Given the description of an element on the screen output the (x, y) to click on. 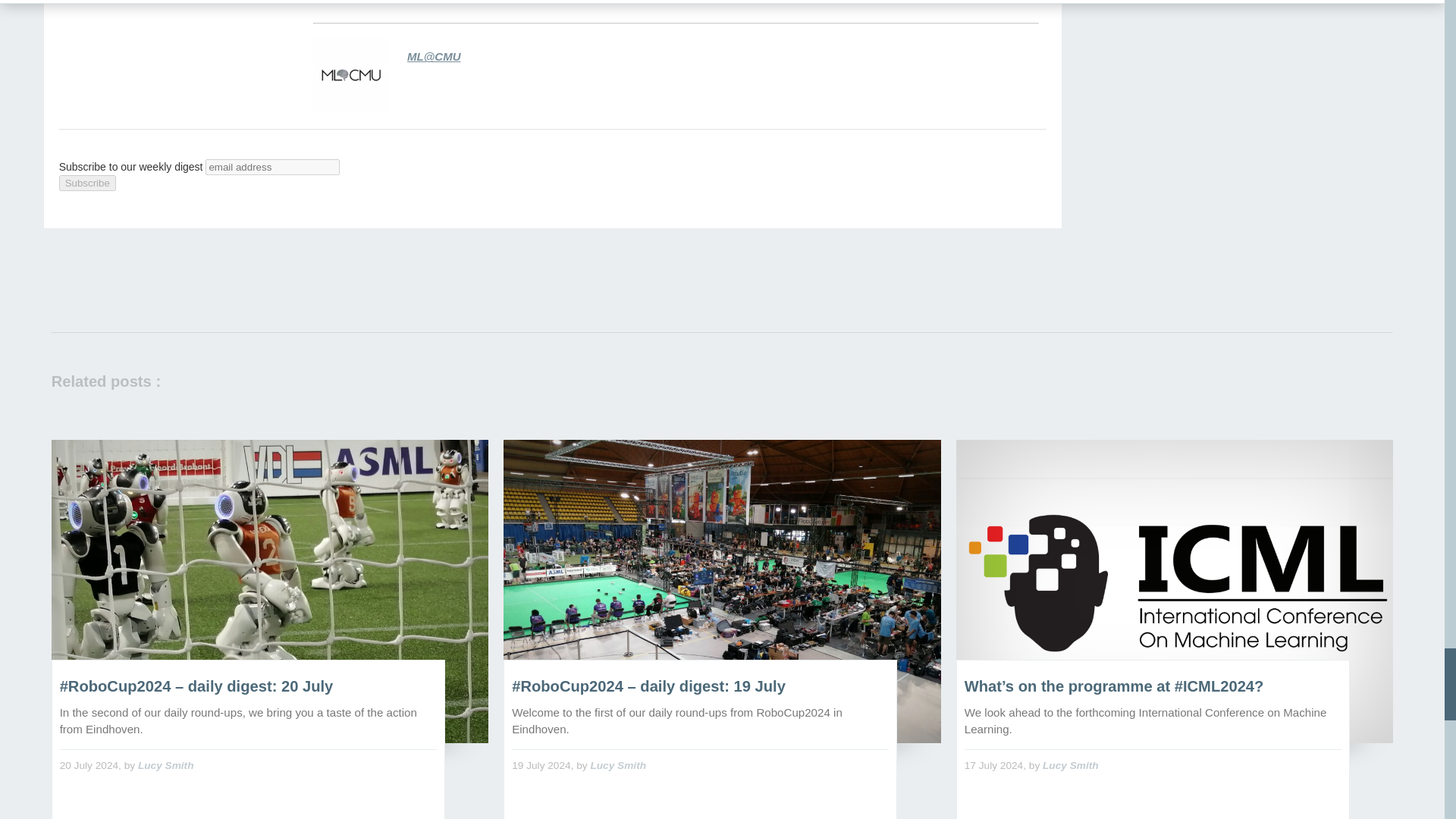
Subscribe (87, 182)
